Given the description of an element on the screen output the (x, y) to click on. 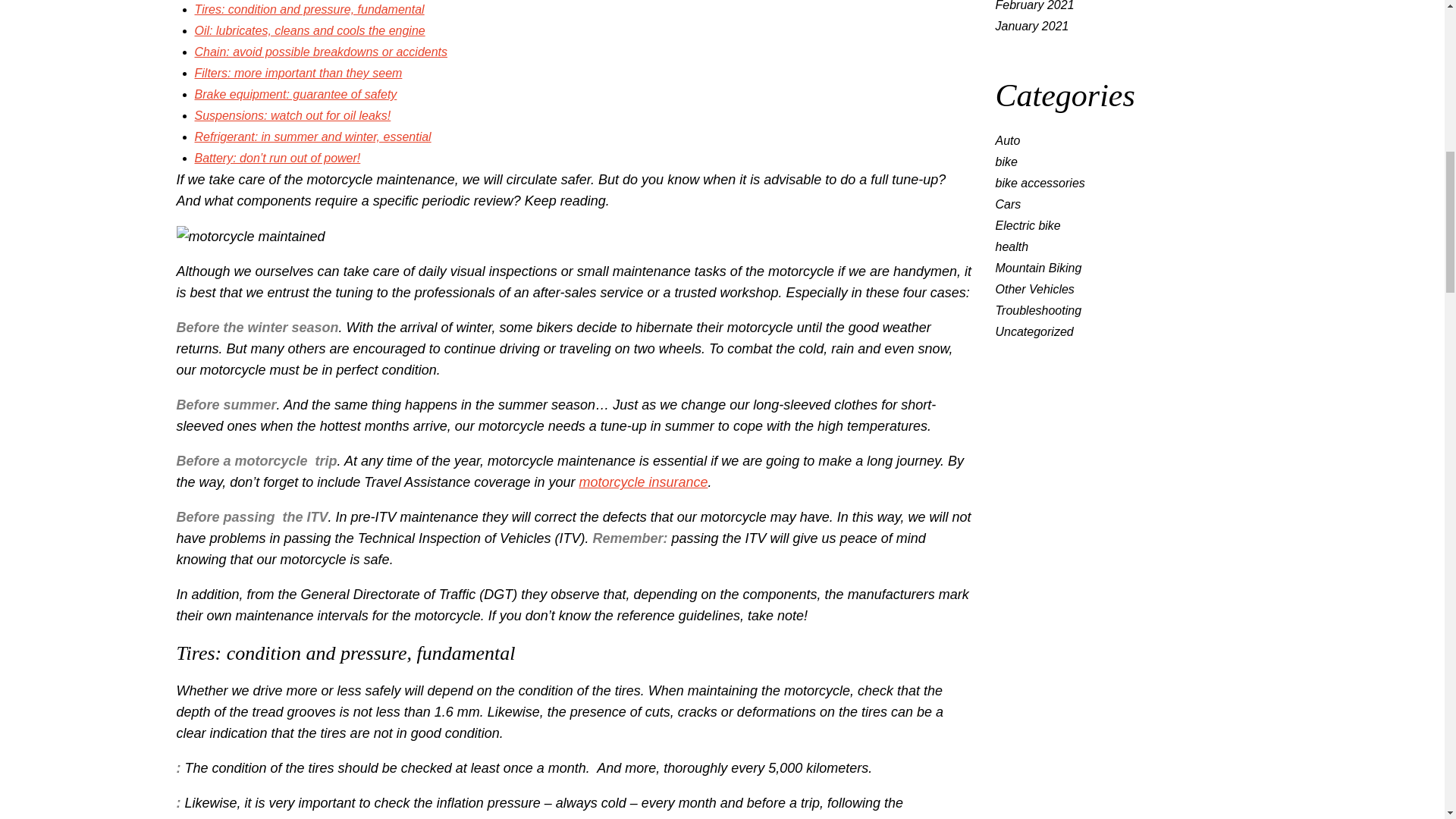
Chain: avoid possible breakdowns or accidents (319, 51)
Tires: condition and pressure, fundamental (308, 9)
Brake equipment: guarantee of safety (294, 93)
Tires: condition and pressure, fundamental (308, 9)
Oil: lubricates, cleans and cools the engine (309, 30)
motorcycle insurance (642, 482)
Chain: avoid possible breakdowns or accidents (319, 51)
Suspensions: watch out for oil leaks! (291, 115)
Refrigerant: in summer and winter, essential (311, 136)
Refrigerant: in summer and winter, essential (311, 136)
